Given the description of an element on the screen output the (x, y) to click on. 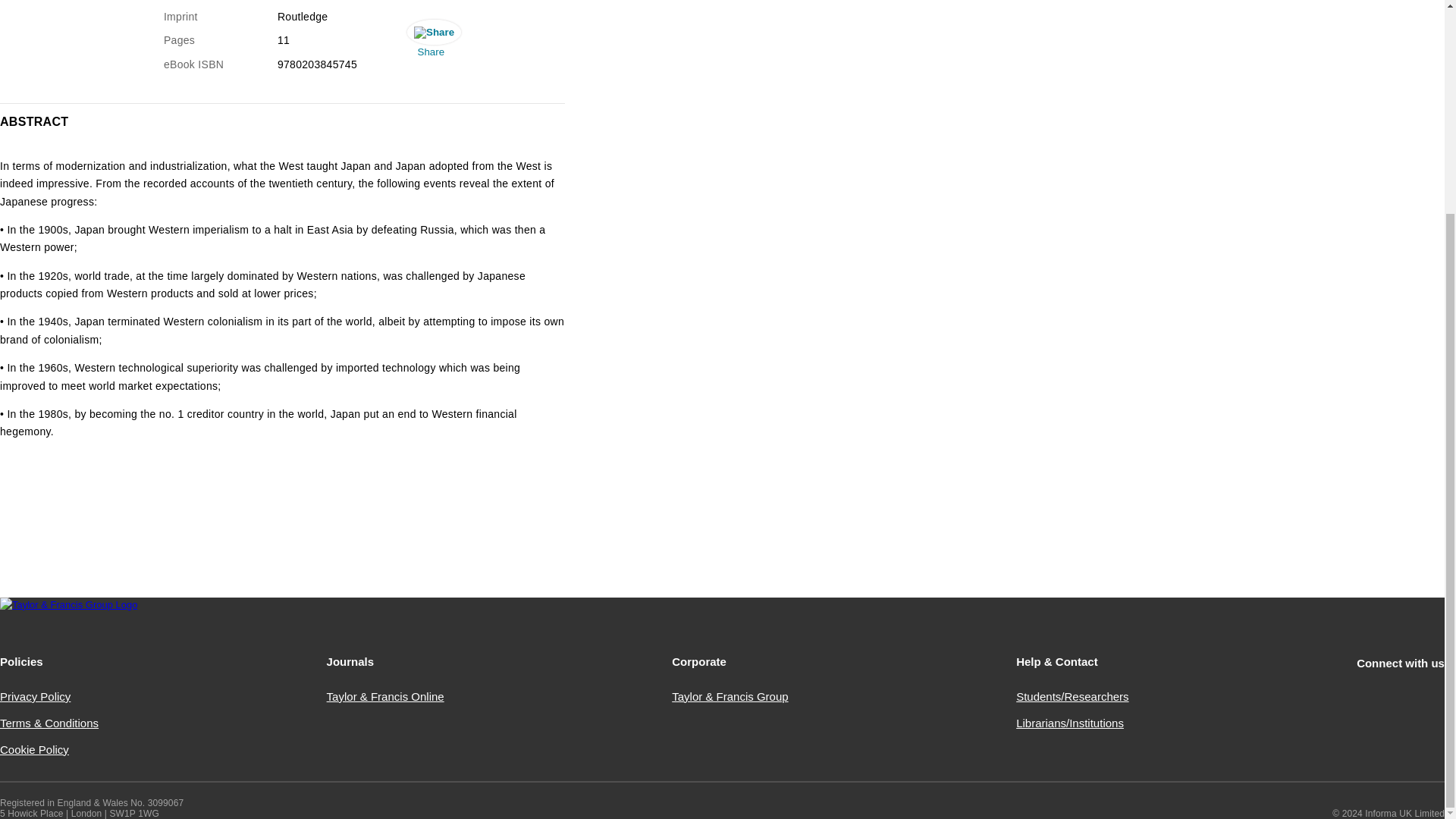
Privacy Policy (34, 696)
Share (431, 41)
Cookie Policy (34, 749)
